Given the description of an element on the screen output the (x, y) to click on. 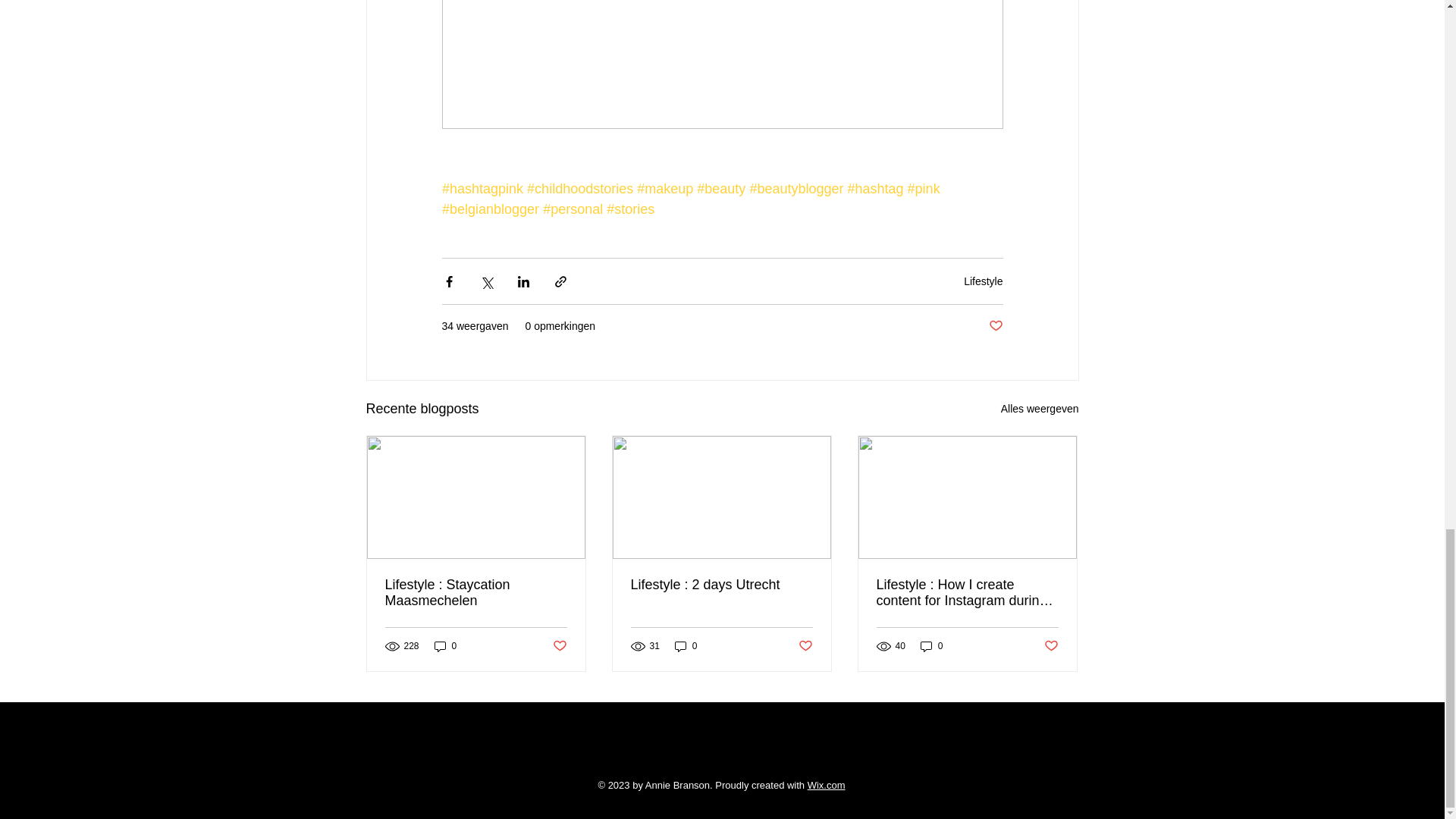
Alles weergeven (1039, 409)
Lifestyle (983, 281)
Post is niet als leuk gemarkeerd (995, 326)
